Given the description of an element on the screen output the (x, y) to click on. 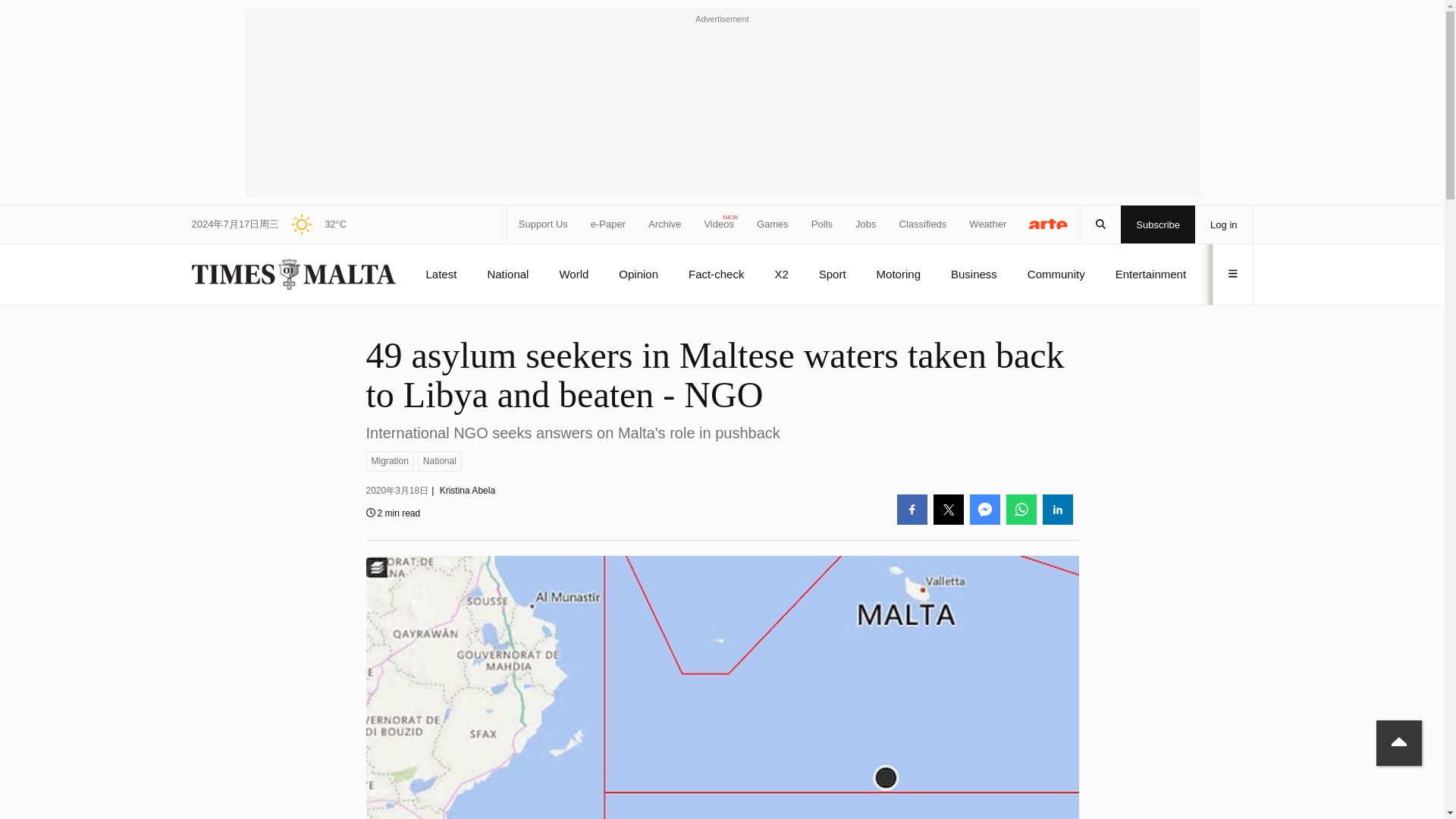
Latest (441, 274)
World (573, 274)
Opinion (638, 274)
Kristina Abela (467, 490)
ARTE (1048, 223)
View more articles by Kristina Abela (467, 490)
Jobs (866, 224)
e-Paper (608, 224)
Games (773, 224)
Migration (389, 461)
Tech (1227, 274)
Subscribe (1158, 224)
Archive (664, 224)
